Given the description of an element on the screen output the (x, y) to click on. 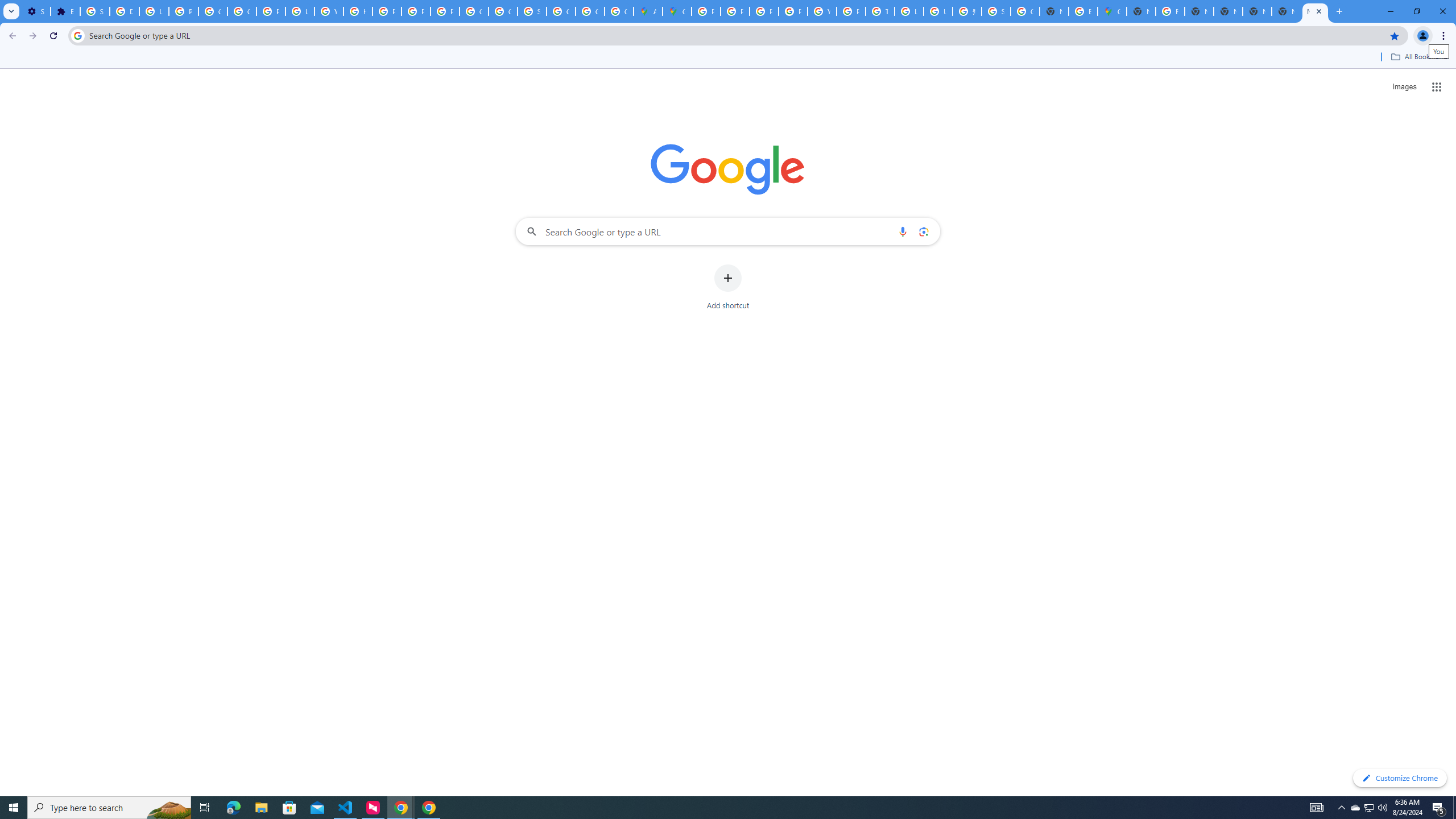
Bookmarks (728, 58)
https://scholar.google.com/ (357, 11)
New Tab (1286, 11)
New Tab (1140, 11)
Privacy Help Center - Policies Help (734, 11)
Google Account Help (212, 11)
